Given the description of an element on the screen output the (x, y) to click on. 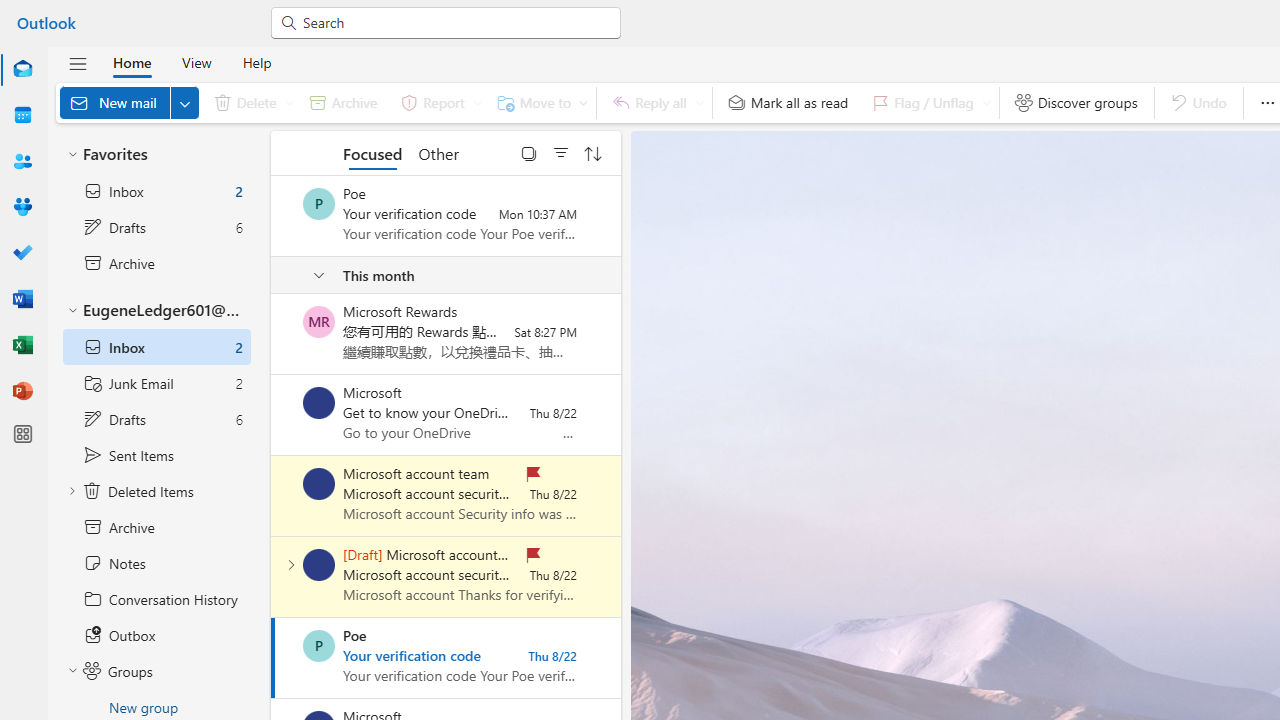
Mark as read (273, 657)
More apps (22, 434)
Excel (22, 344)
Mail (22, 69)
Select a conversation (319, 645)
People (22, 161)
Expand to see delete options (289, 102)
View (196, 61)
Expand conversation (291, 564)
Calendar (22, 115)
Word (22, 298)
Microsoft account team (319, 564)
Mail (22, 69)
To Do (22, 252)
